Given the description of an element on the screen output the (x, y) to click on. 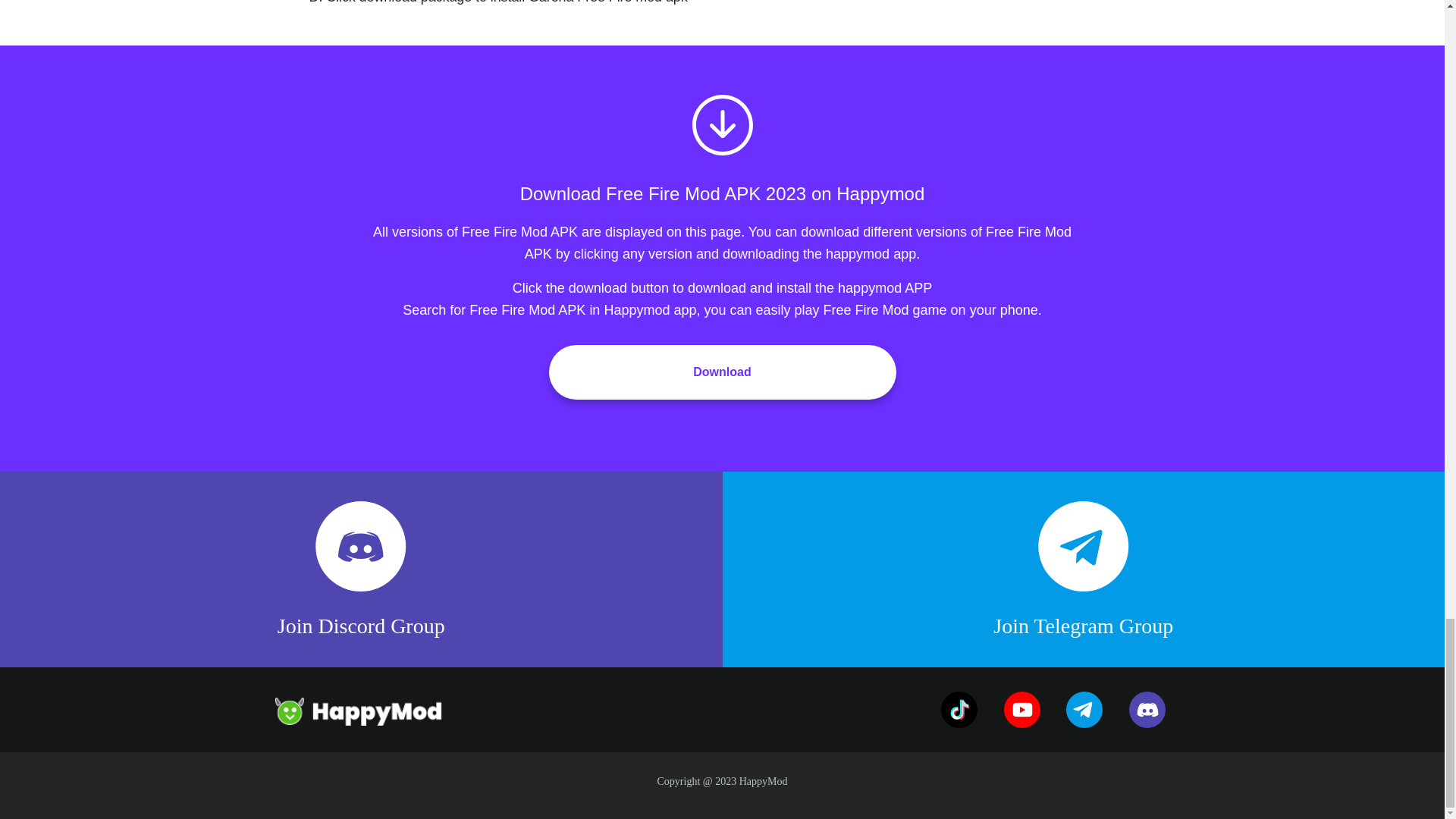
Download (722, 371)
Join Discord Group (361, 569)
